Given the description of an element on the screen output the (x, y) to click on. 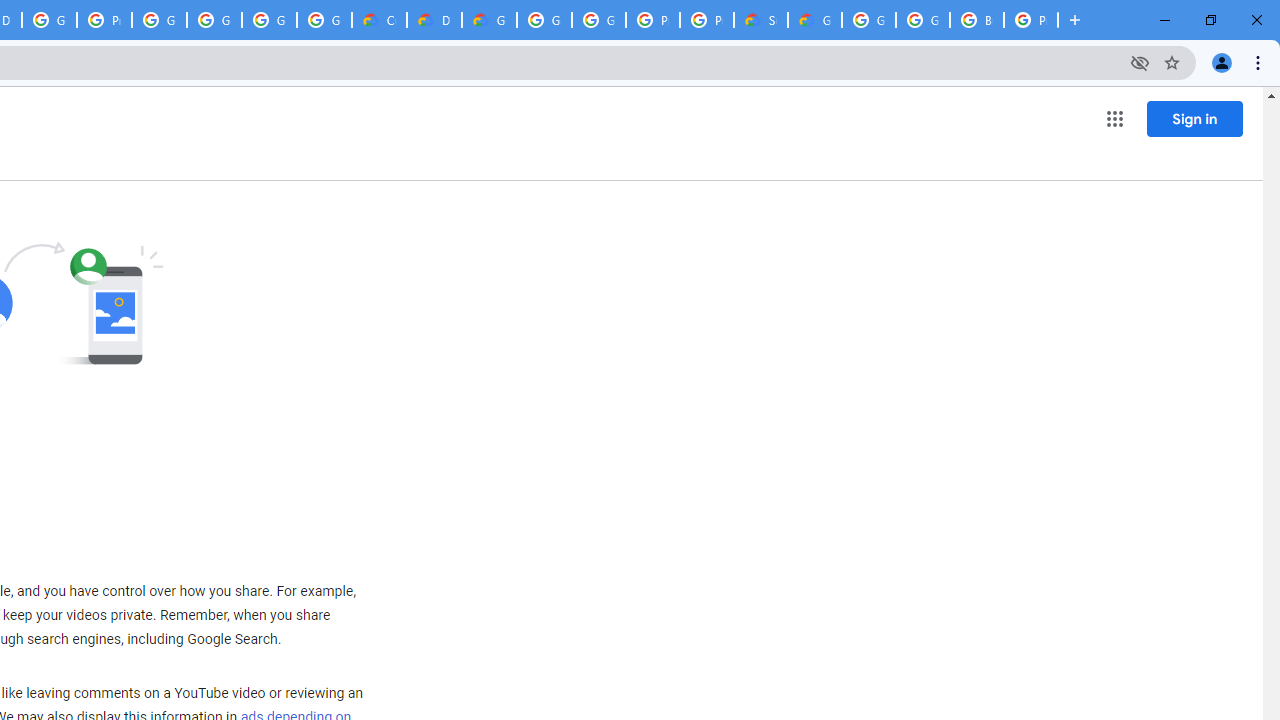
Google Cloud Platform (544, 20)
Google Cloud Platform (598, 20)
Google Cloud Service Health (815, 20)
